Given the description of an element on the screen output the (x, y) to click on. 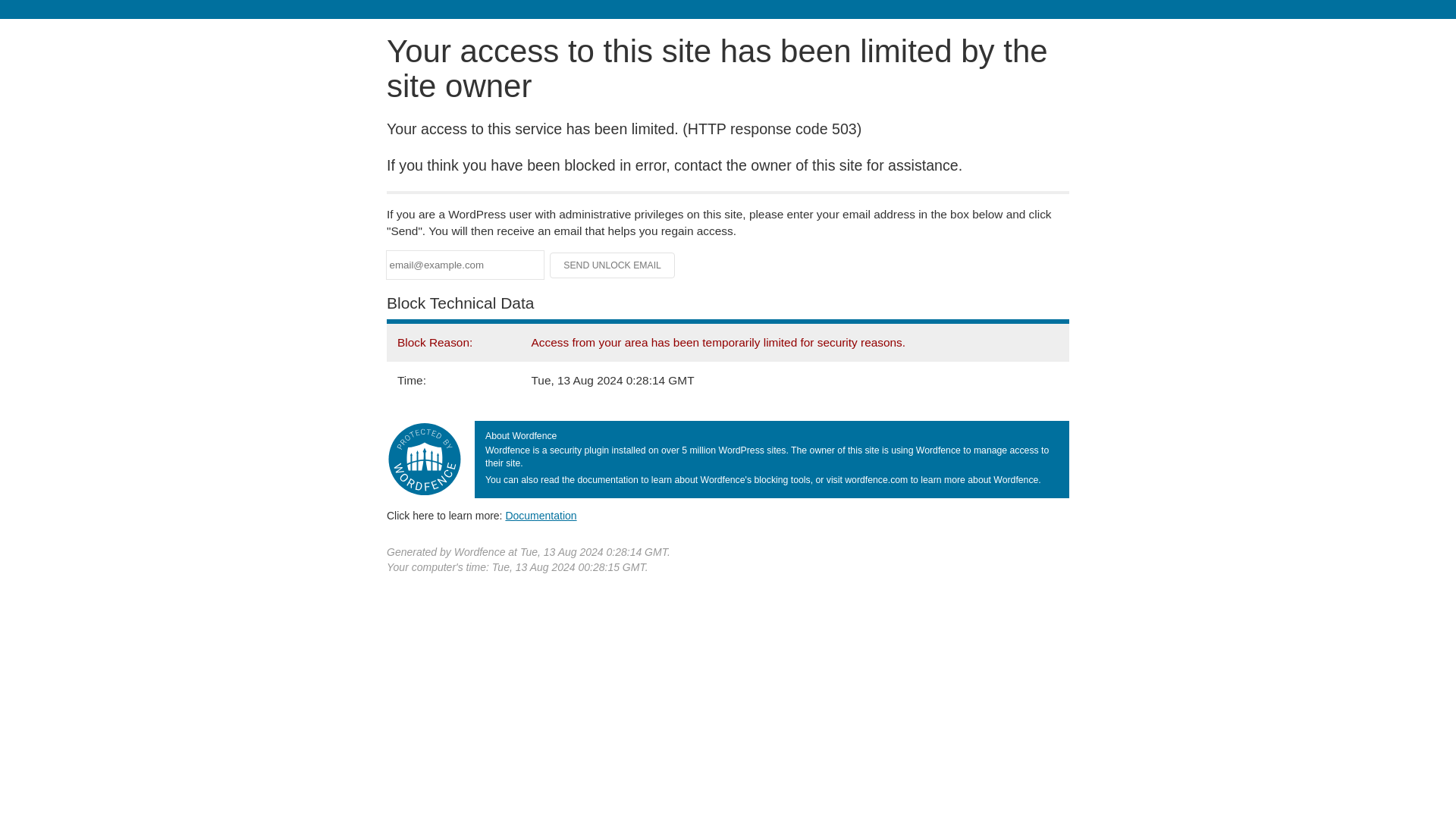
Documentation (540, 515)
Send Unlock Email (612, 265)
Send Unlock Email (612, 265)
